Given the description of an element on the screen output the (x, y) to click on. 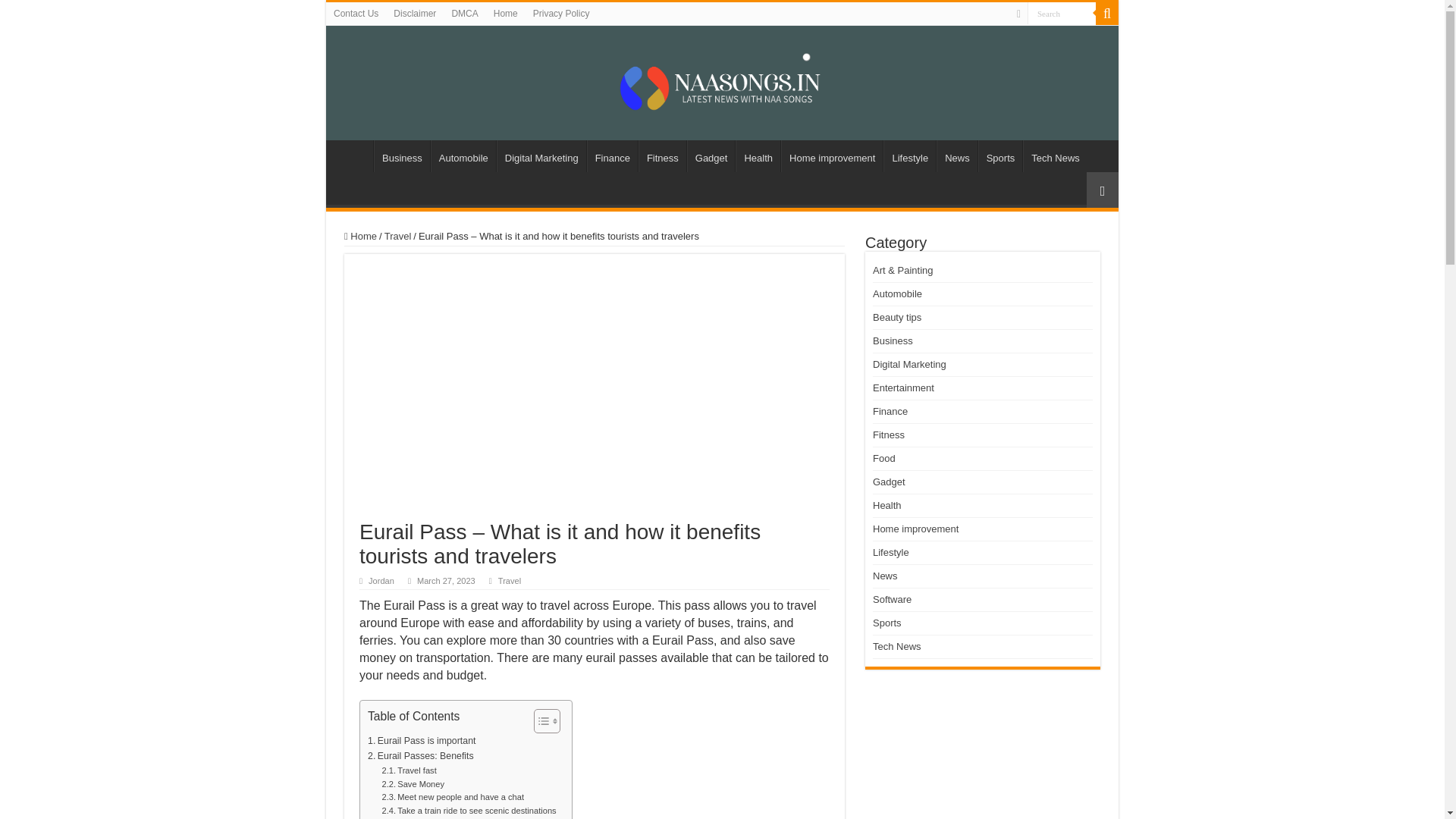
Lifestyle (909, 155)
Disclaimer (414, 13)
Home improvement (831, 155)
Eurail Passes: Benefits (421, 756)
Fitness (662, 155)
Business (401, 155)
Travel fast (408, 771)
Eurail Pass is important (422, 741)
Save Money (413, 784)
Search (1061, 13)
